Given the description of an element on the screen output the (x, y) to click on. 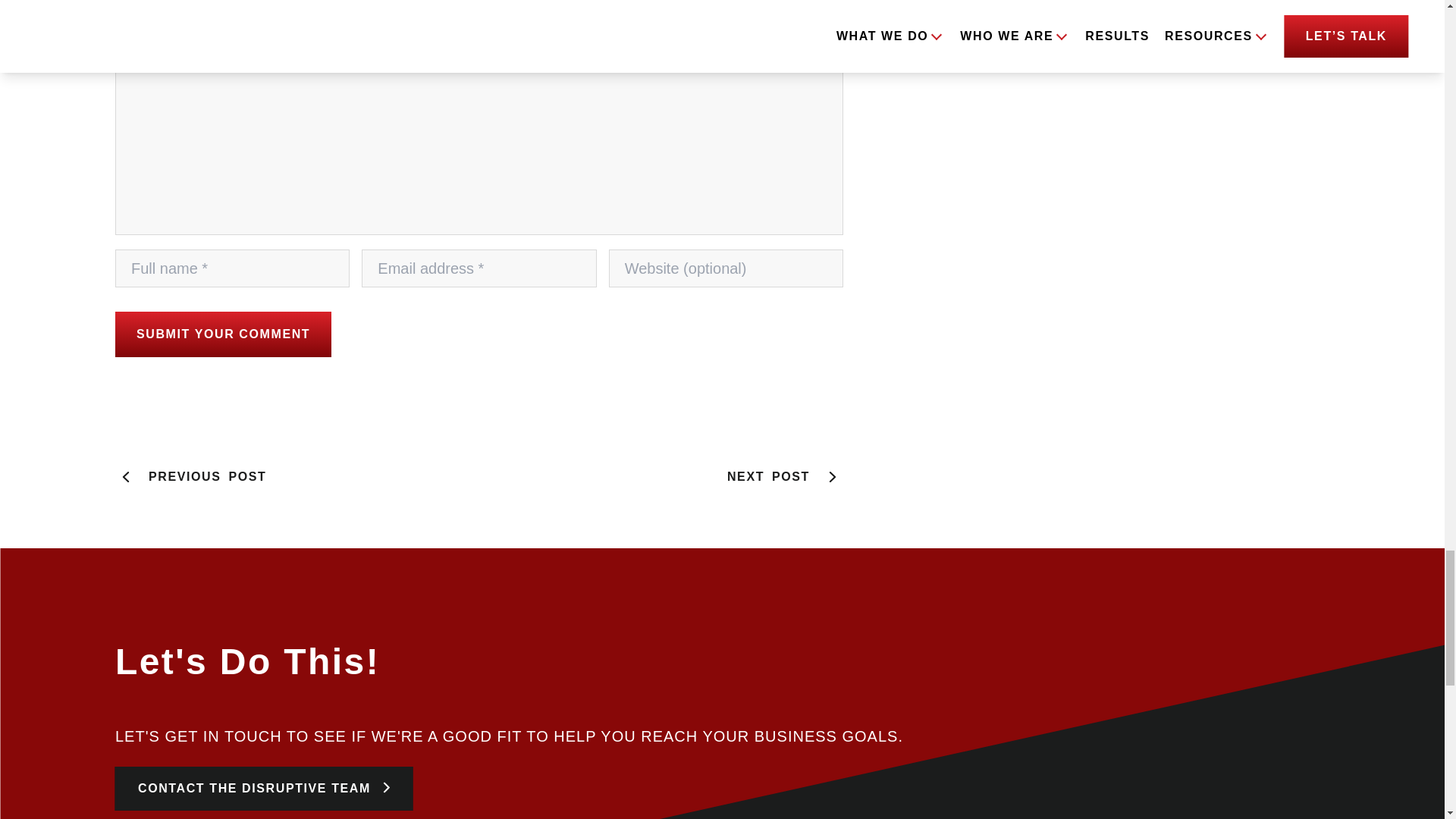
SUBMIT YOUR COMMENT (784, 476)
